Given the description of an element on the screen output the (x, y) to click on. 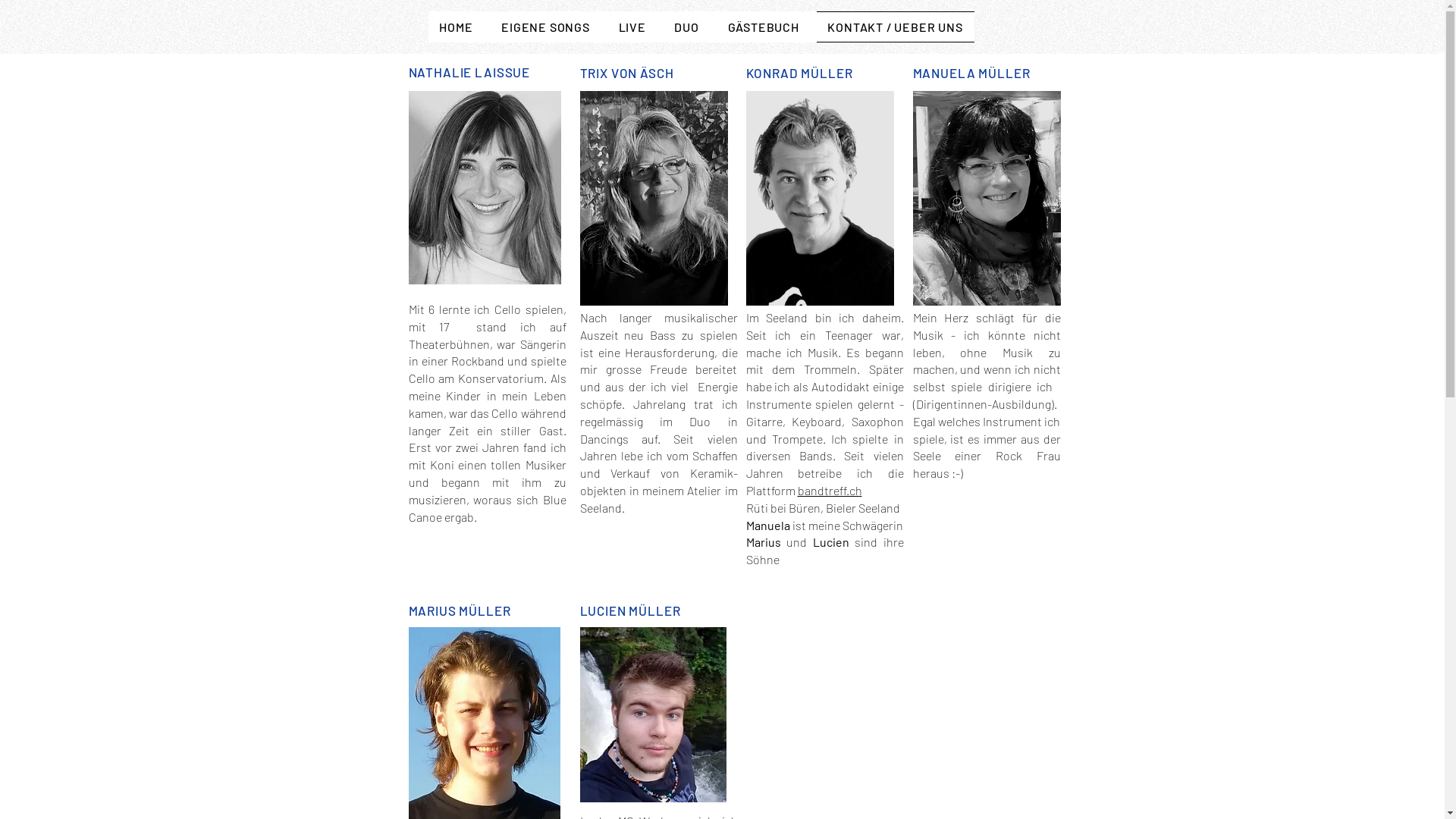
Nathalie Laissue Element type: hover (483, 187)
Trix Vonaesch Element type: hover (653, 198)
KONTAKT / UEBER UNS Element type: text (895, 26)
DUO Element type: text (686, 26)
183f11_408ce7eab13047edbe2e7cd8f4be1aa9~mv2.jpg Element type: hover (652, 714)
EIGENE SONGS Element type: text (544, 26)
HOME Element type: text (455, 26)
LIVE Element type: text (632, 26)
bandtreff.ch Element type: text (829, 490)
